Given the description of an element on the screen output the (x, y) to click on. 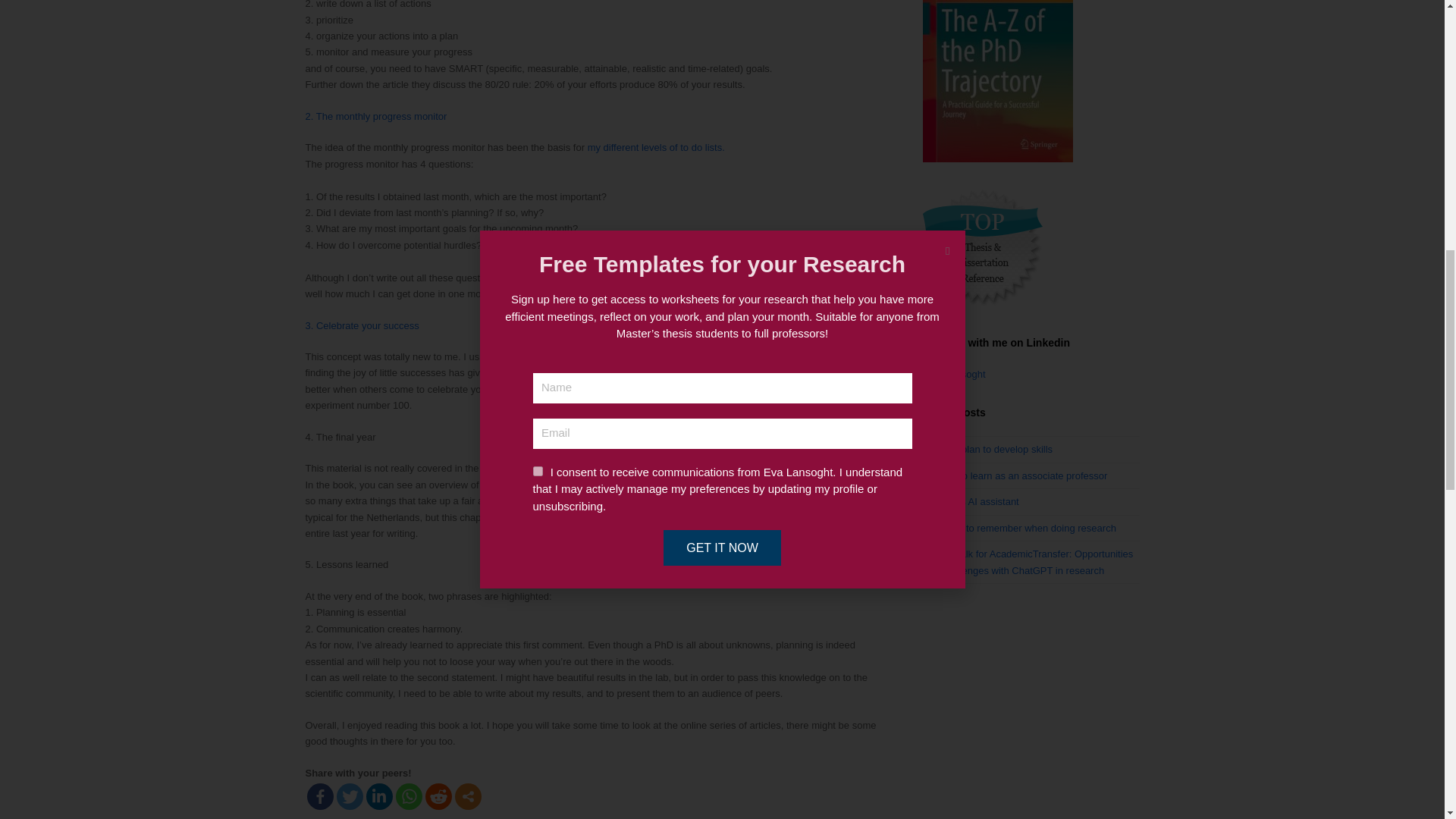
Facebook (319, 795)
Whatsapp (409, 795)
Reddit (438, 795)
Linkedin (378, 795)
More (467, 795)
Twitter (349, 795)
